Given the description of an element on the screen output the (x, y) to click on. 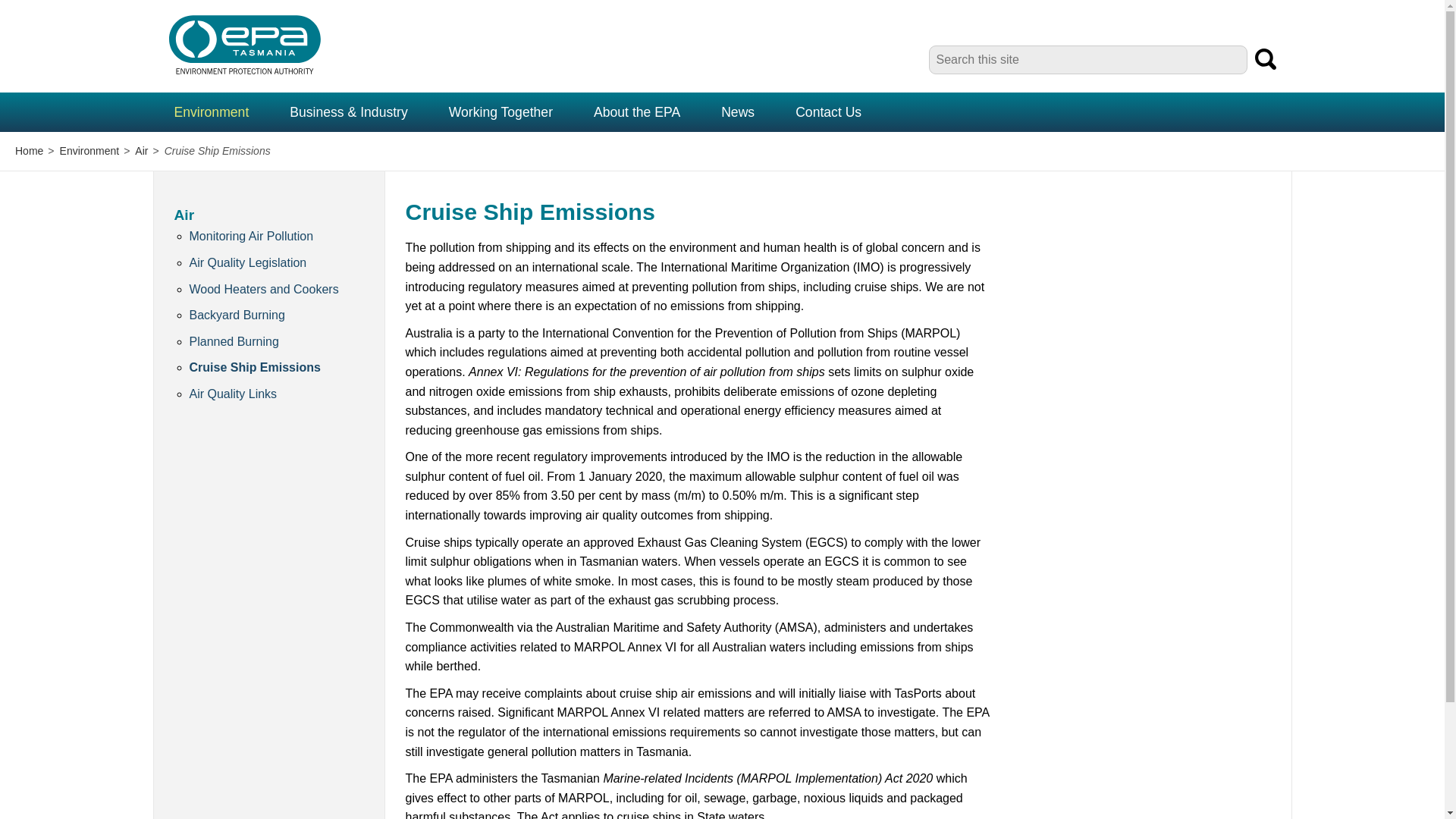
News (737, 111)
Environment (210, 111)
Working Together (500, 111)
About the EPA (636, 111)
Contact Us (828, 111)
Search field (1087, 59)
